Given the description of an element on the screen output the (x, y) to click on. 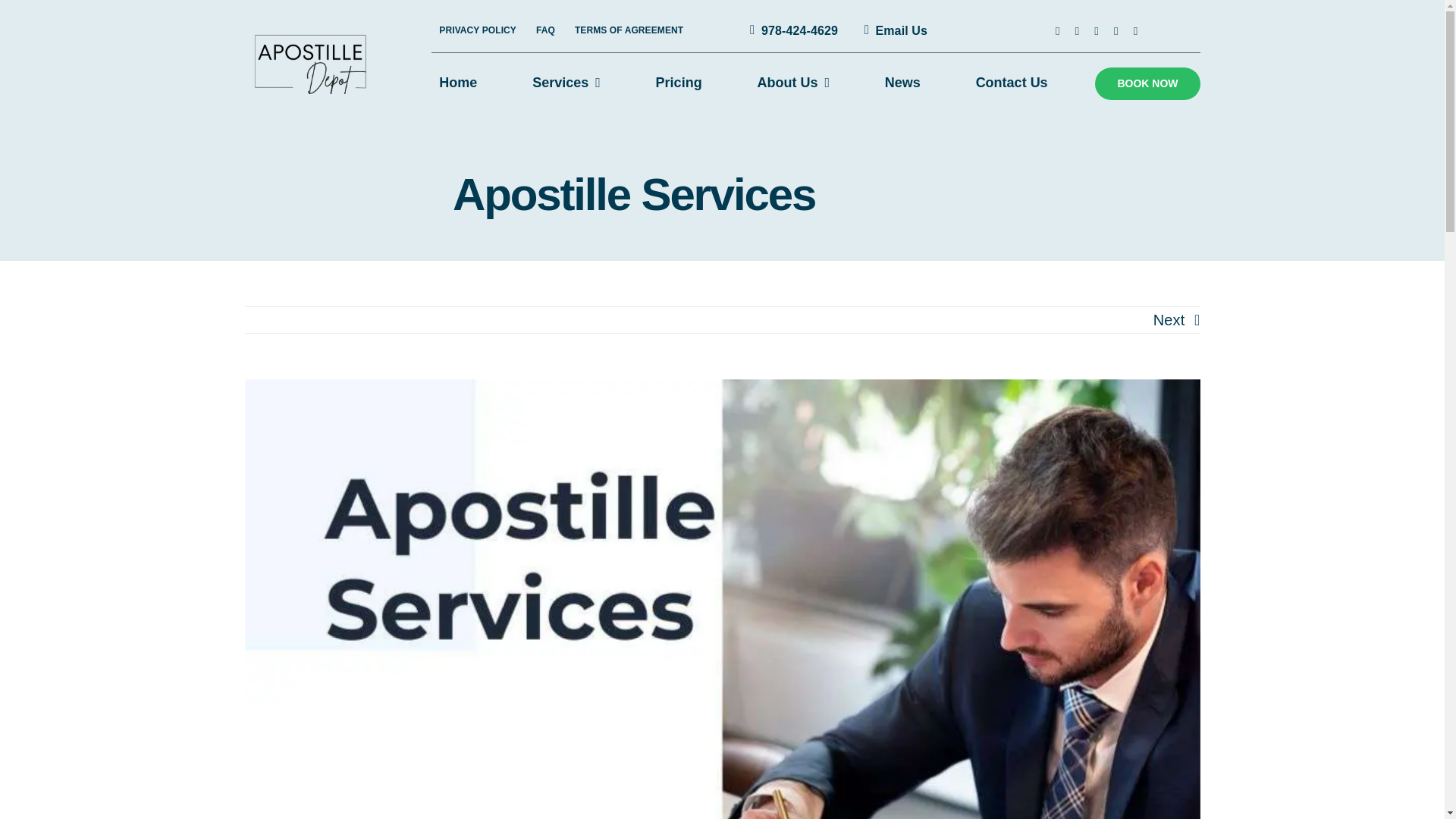
Pricing (678, 83)
Call Us (790, 30)
PRIVACY POLICY (477, 30)
Contact Us (1011, 83)
Apostille Service Fees (678, 83)
BOOK NOW (1146, 83)
Services (566, 83)
Contact Us (892, 30)
About Us (793, 83)
